Given the description of an element on the screen output the (x, y) to click on. 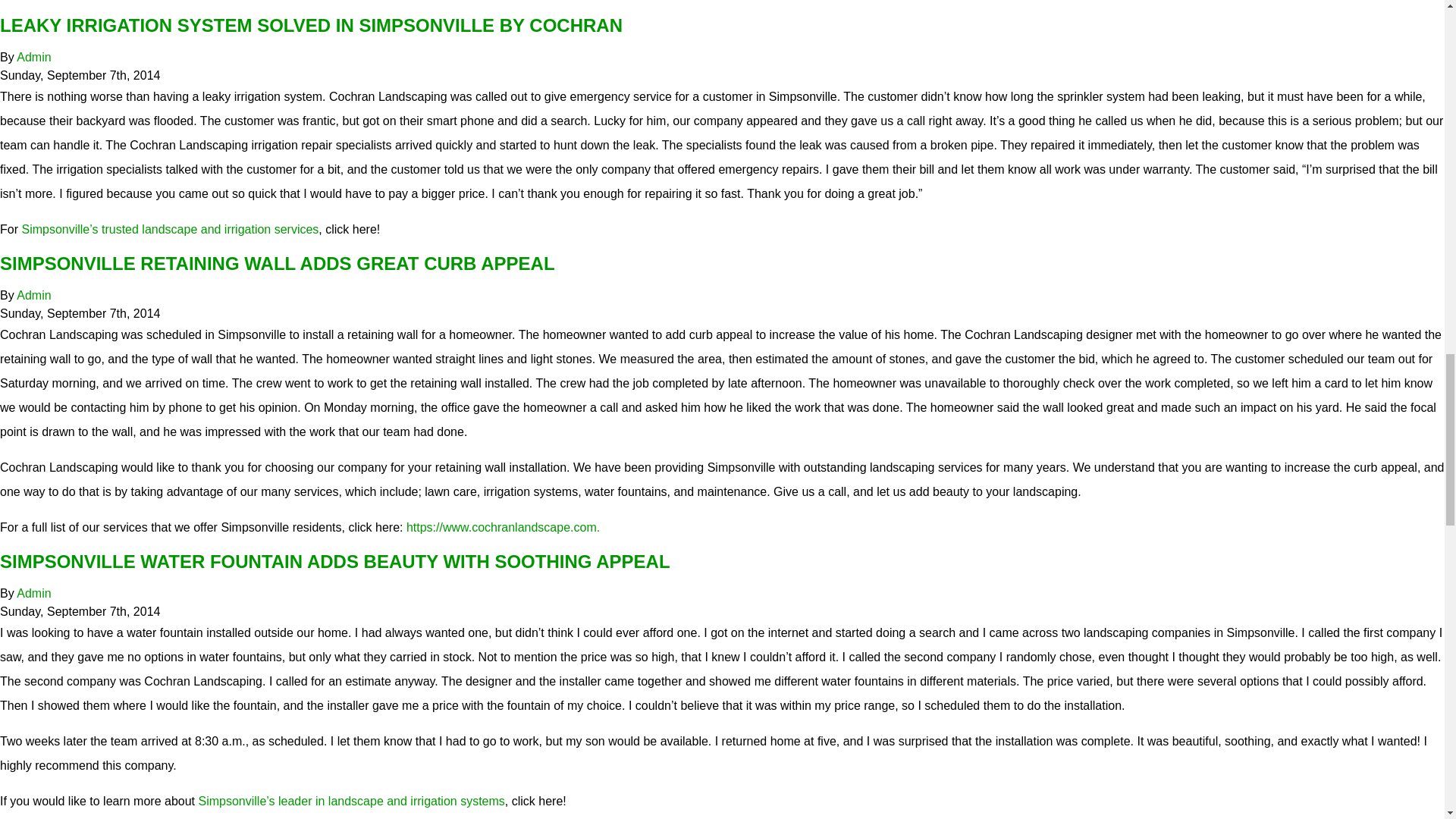
Admin (33, 295)
LEAKY IRRIGATION SYSTEM SOLVED IN SIMPSONVILLE BY COCHRAN (311, 25)
Admin (33, 56)
Admin (33, 56)
Admin (33, 593)
